Given the description of an element on the screen output the (x, y) to click on. 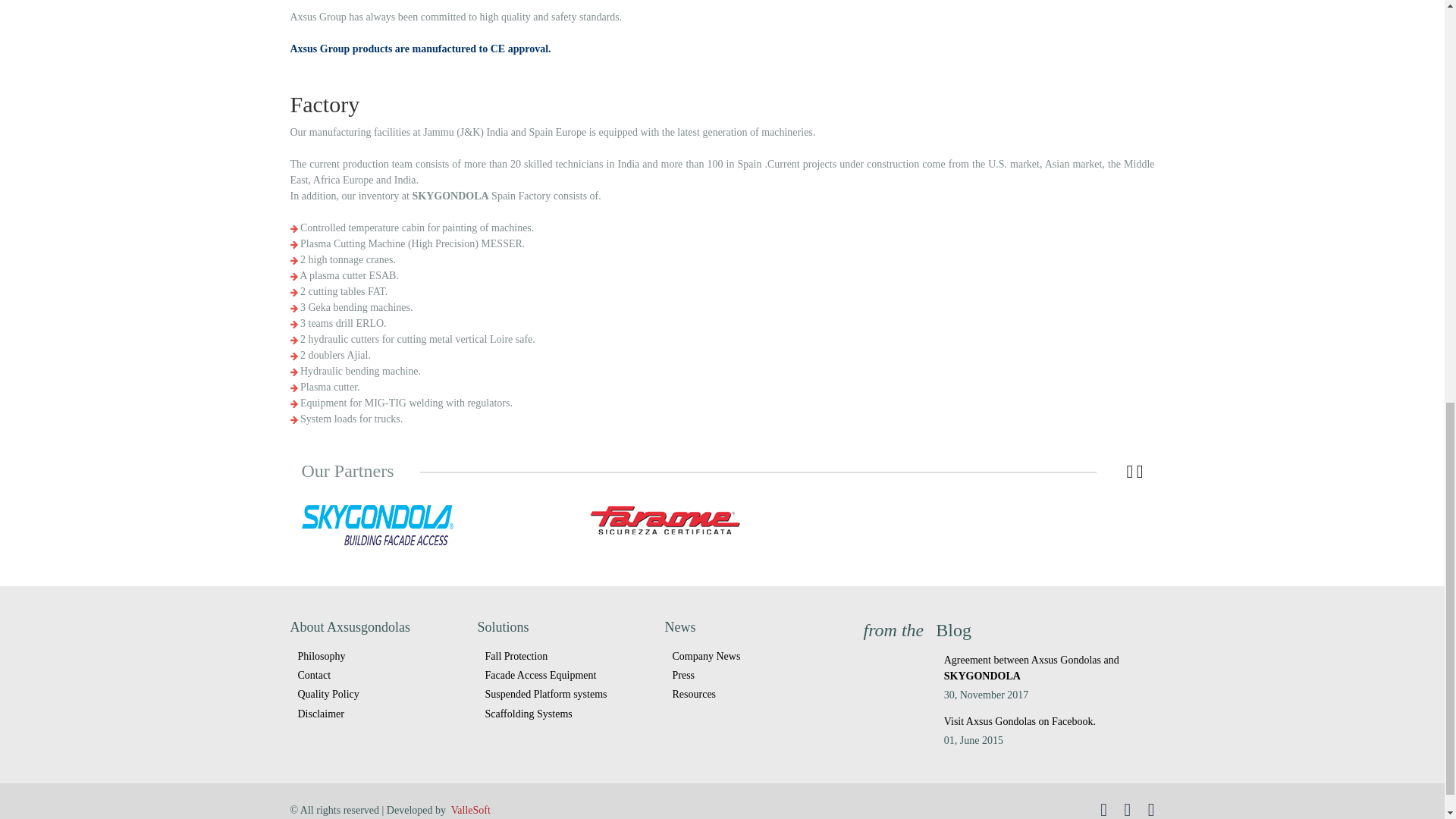
Philosophy (377, 656)
Scaffolding Systems (565, 713)
Contact (377, 674)
Fall Protection (565, 656)
Quality Policy (377, 693)
Facade Access Equipment (565, 674)
Disclaimer (377, 713)
Suspended Platform systems (565, 693)
